Given the description of an element on the screen output the (x, y) to click on. 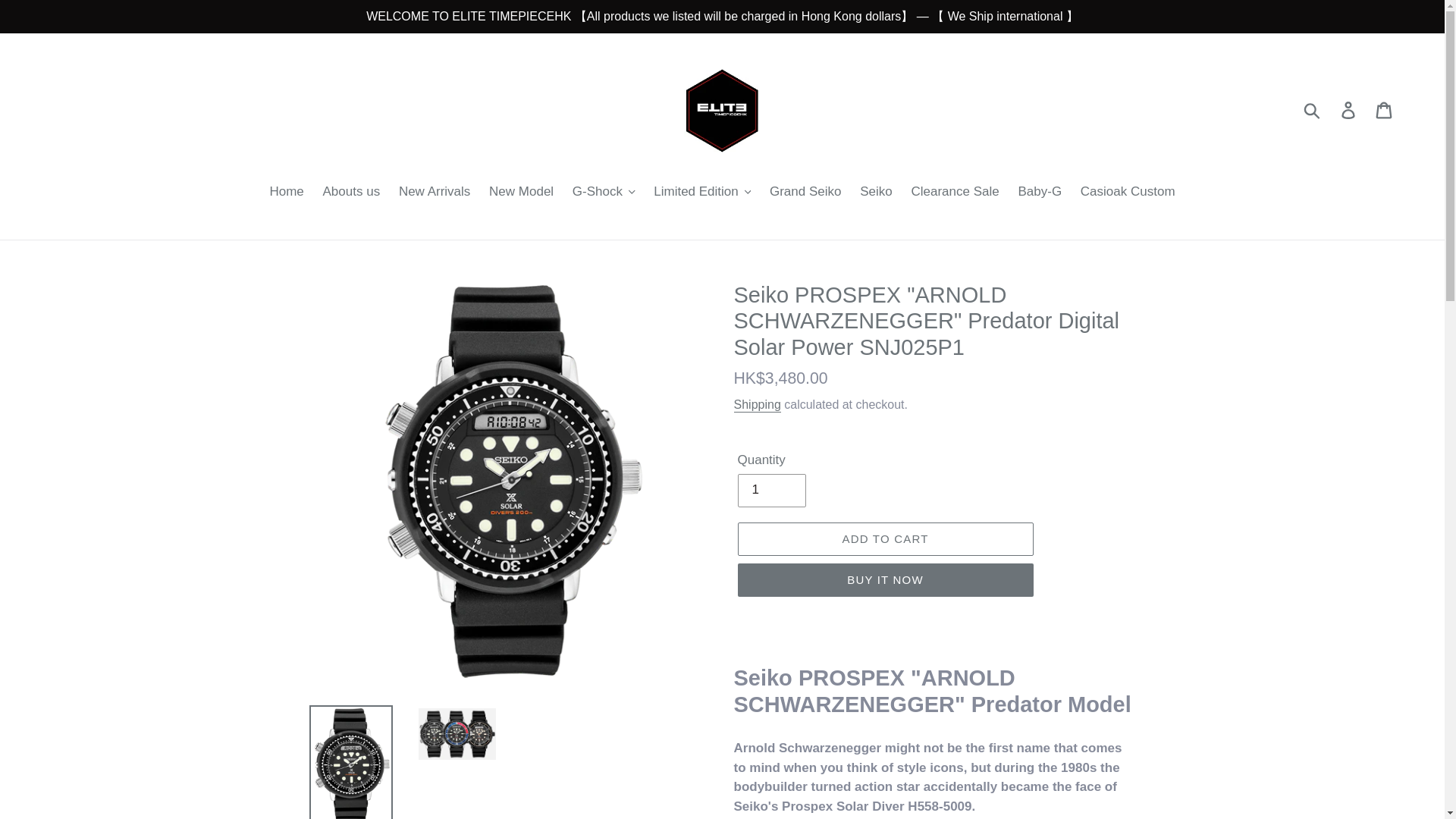
Log in (1349, 109)
Submit (1313, 109)
Cart (1385, 109)
1 (770, 490)
